Given the description of an element on the screen output the (x, y) to click on. 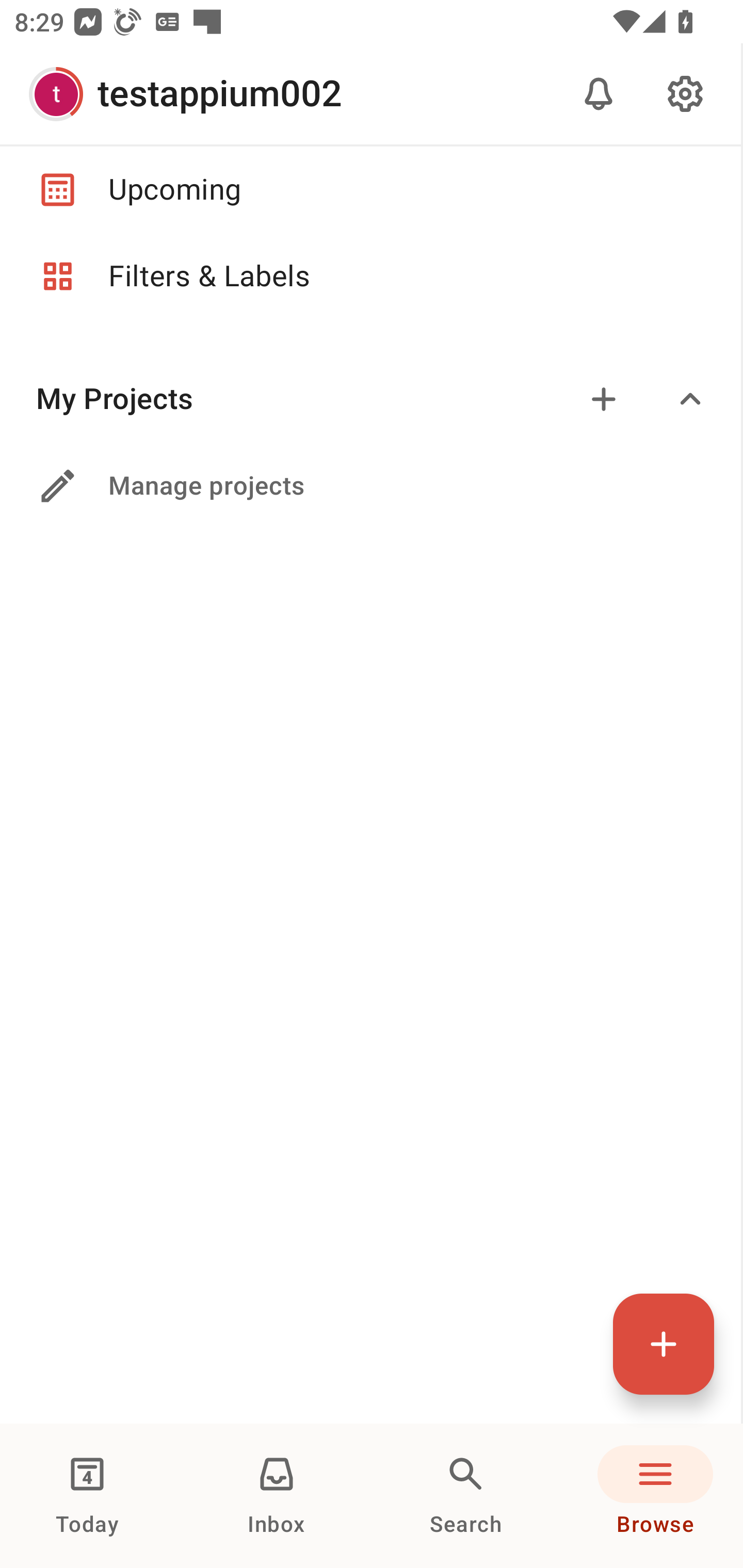
Notifications (598, 93)
Settings (684, 93)
Upcoming (370, 189)
Filters & Labels (370, 276)
My Projects Add Expand/collapse (370, 398)
Add (603, 398)
Expand/collapse (690, 398)
Manage projects (370, 485)
Quick add (663, 1343)
Today (87, 1495)
Inbox (276, 1495)
Search (465, 1495)
